Given the description of an element on the screen output the (x, y) to click on. 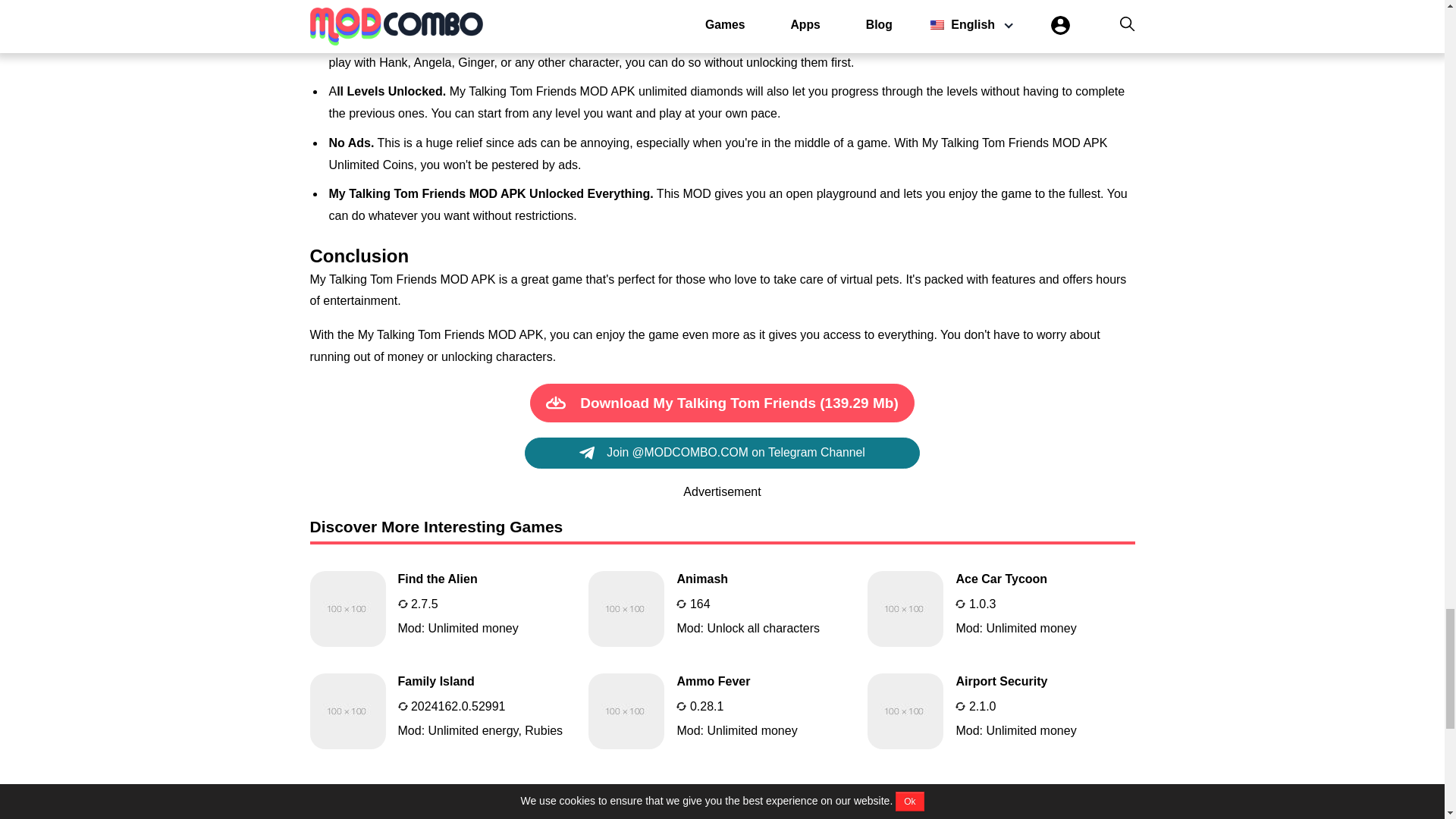
Airport Security (1000, 711)
Family Island (442, 711)
Animash (442, 608)
Ammo Fever (722, 608)
Ace Car Tycoon (722, 711)
Find the Alien (722, 608)
